Given the description of an element on the screen output the (x, y) to click on. 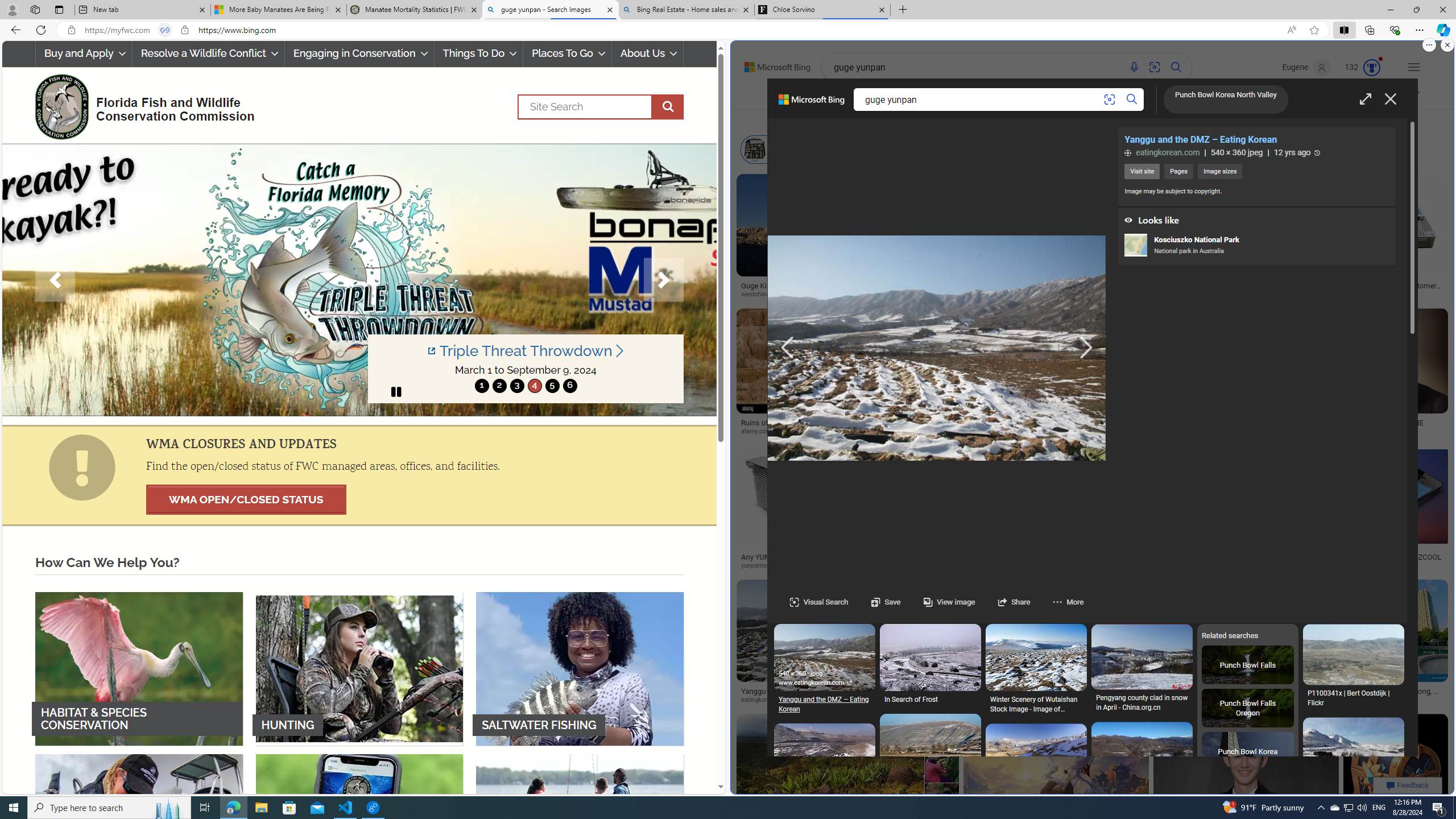
FWC Logo (61, 106)
Date (1063, 121)
Guage Set (1296, 247)
Image result for guge yunpan (1395, 766)
AutomationID: navl (787, 347)
4 (534, 385)
